Given the description of an element on the screen output the (x, y) to click on. 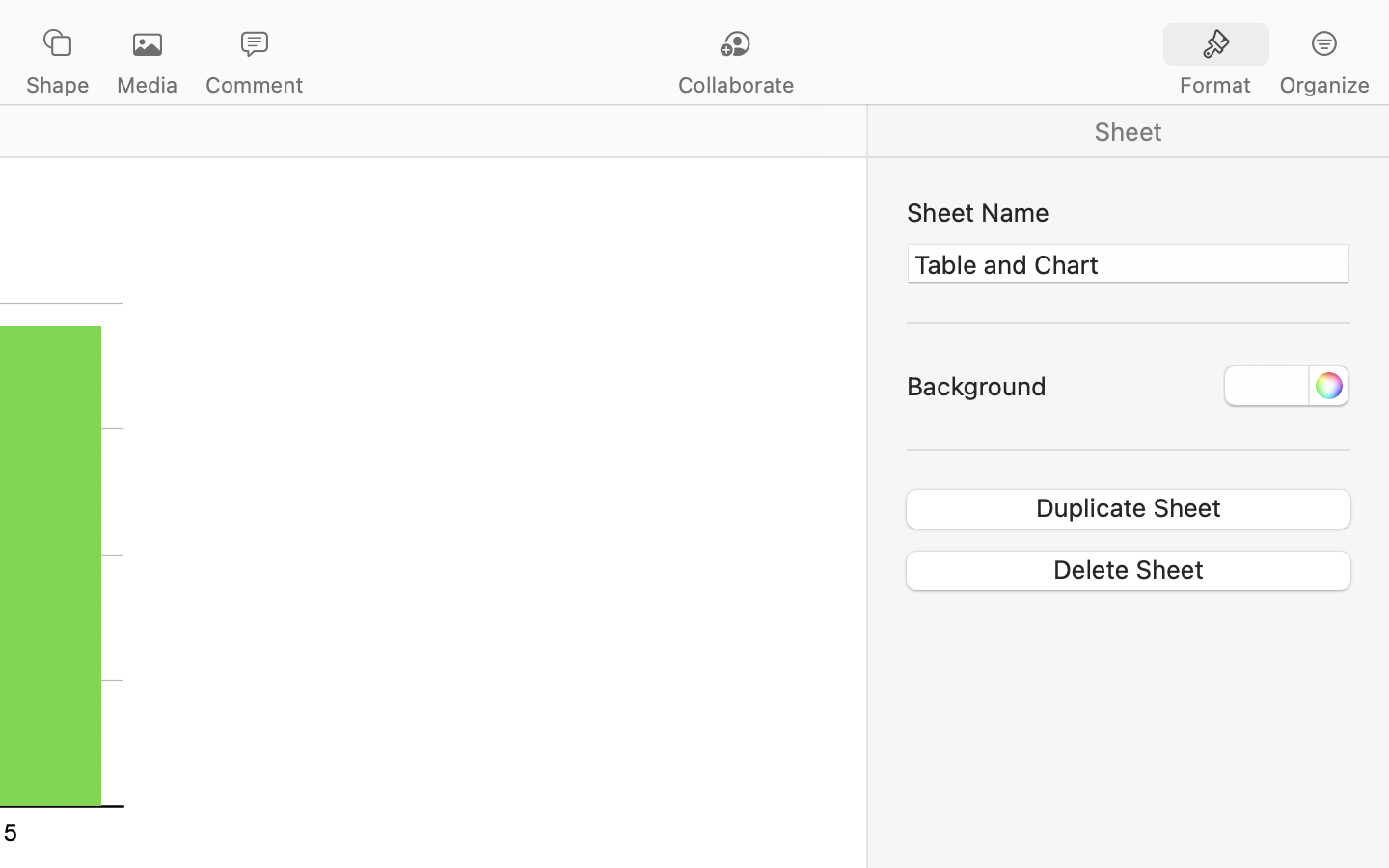
Background Element type: AXStaticText (975, 385)
